Given the description of an element on the screen output the (x, y) to click on. 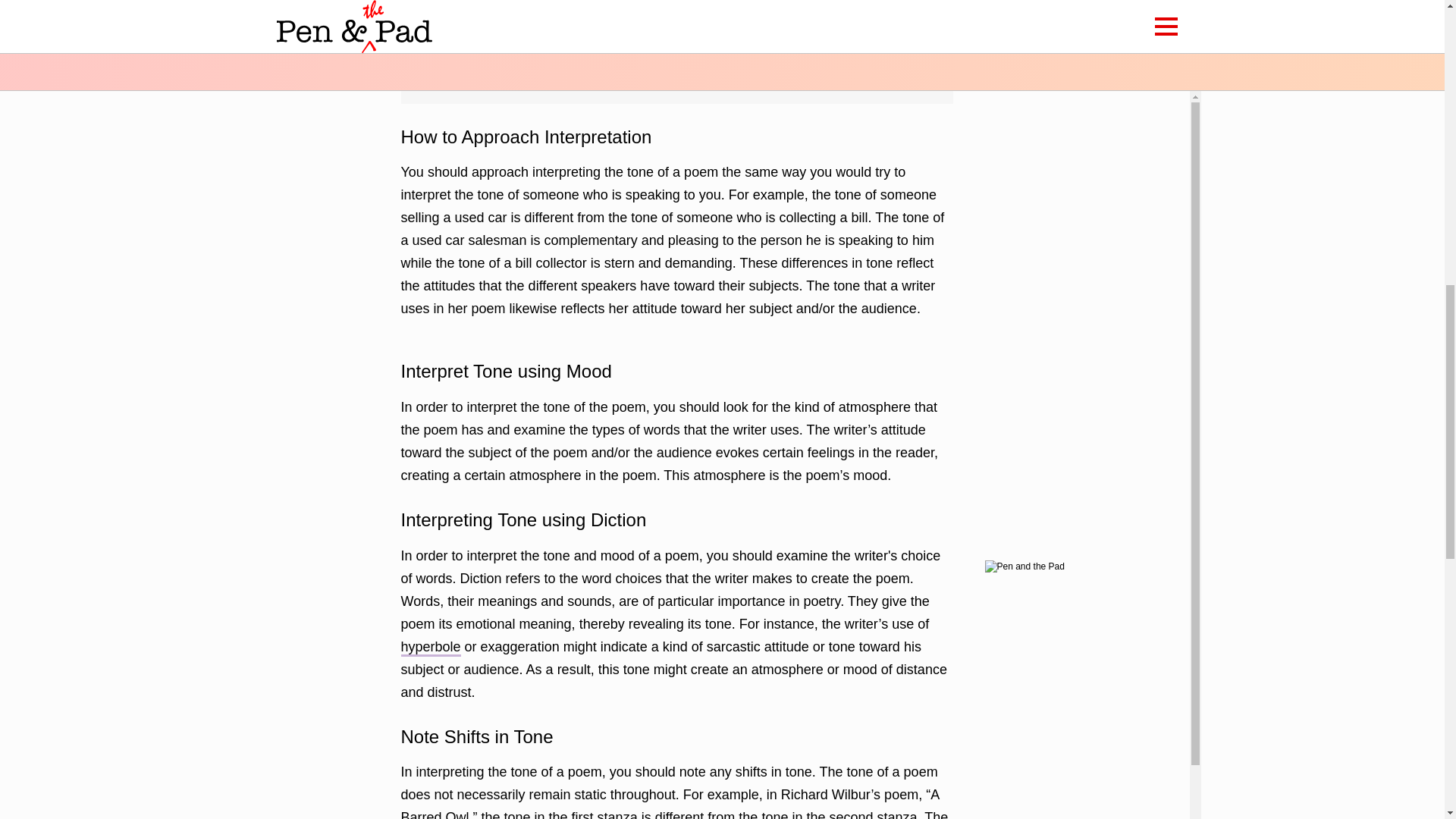
hyperbole (430, 647)
